Given the description of an element on the screen output the (x, y) to click on. 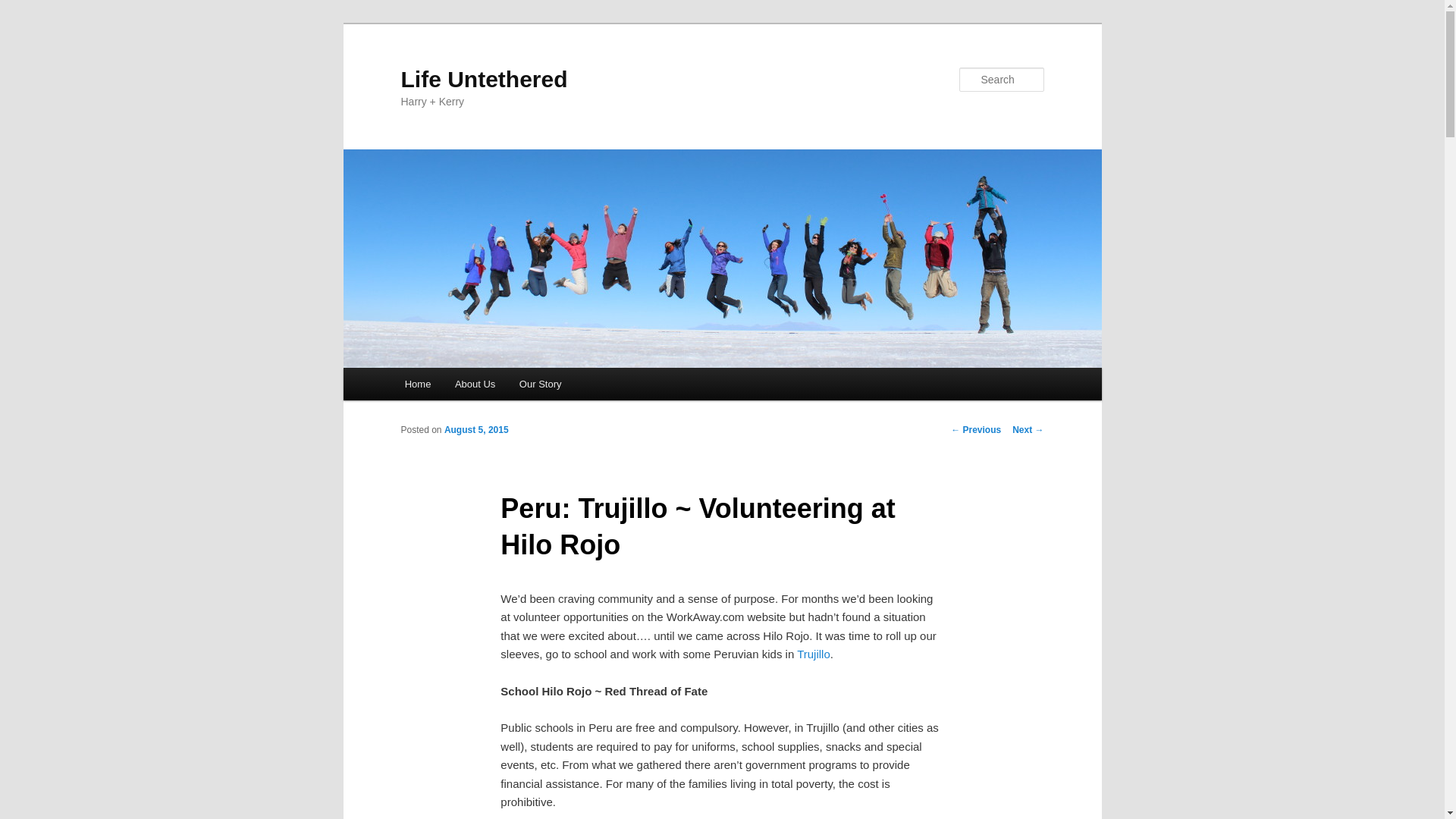
Home (417, 383)
Trujillo (812, 653)
Our Story (539, 383)
9:01 pm (476, 429)
Skip to primary content (472, 386)
August 5, 2015 (476, 429)
About Us (474, 383)
Life Untethered (483, 78)
Search (24, 8)
